Given the description of an element on the screen output the (x, y) to click on. 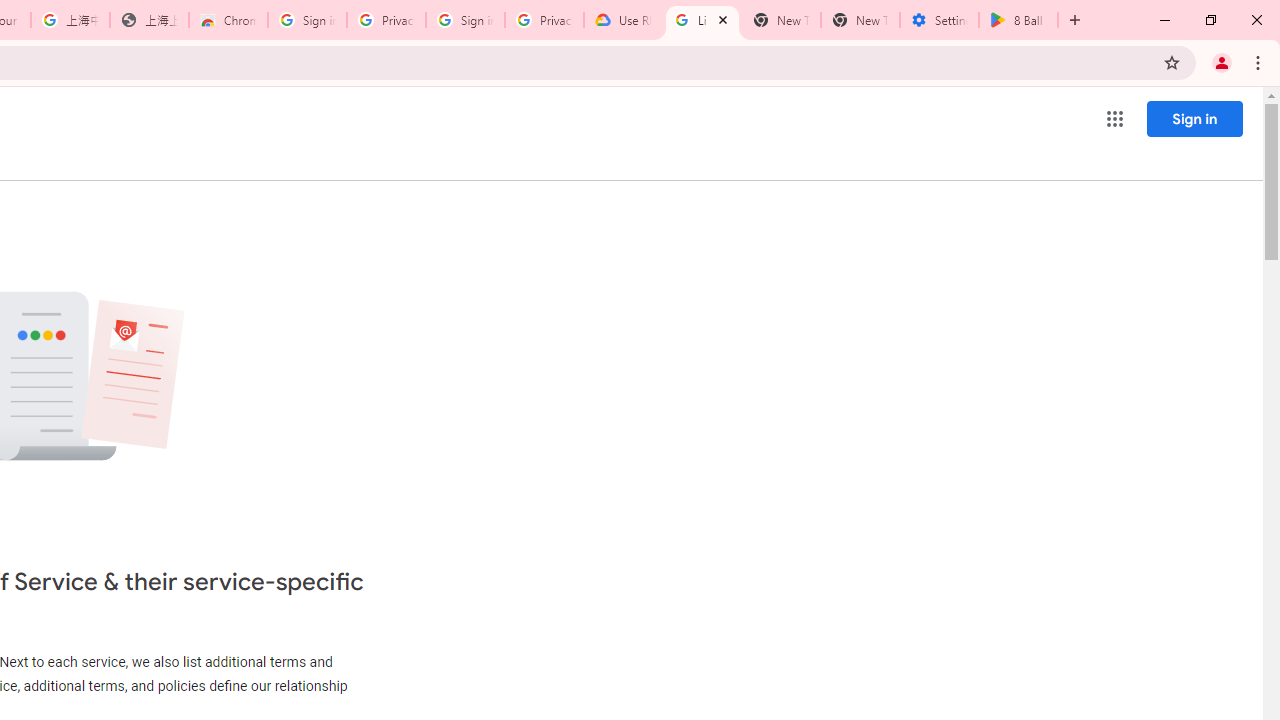
New Tab (859, 20)
Chrome Web Store - Color themes by Chrome (228, 20)
8 Ball Pool - Apps on Google Play (1018, 20)
